Given the description of an element on the screen output the (x, y) to click on. 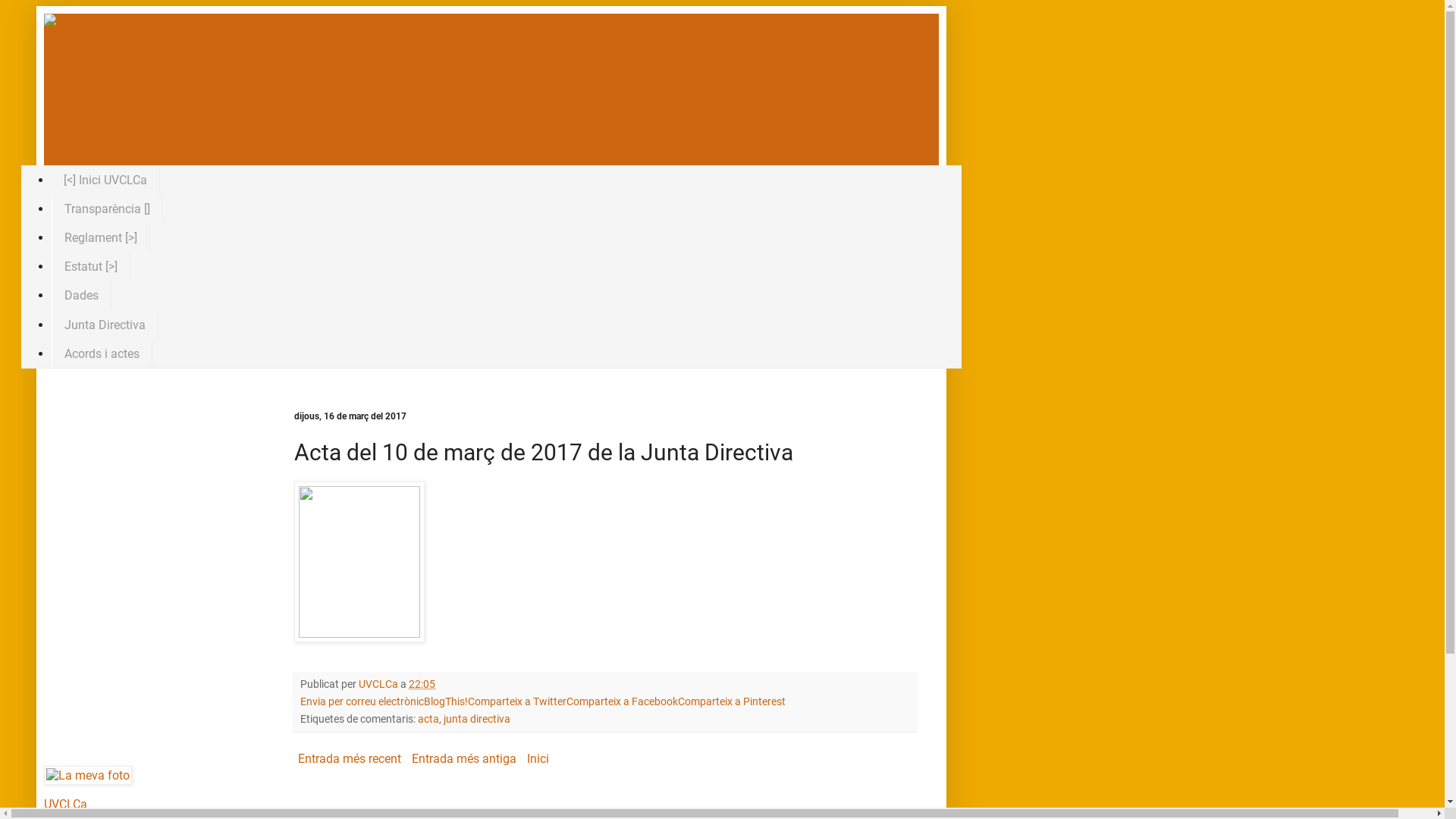
Comparteix a Pinterest Element type: text (731, 701)
junta directiva Element type: text (476, 718)
Estatut [>] Element type: text (90, 266)
UVCLCa Element type: text (65, 804)
Acords i actes Element type: text (101, 352)
Comparteix a Facebook Element type: text (621, 701)
Junta Directiva Element type: text (104, 324)
22:05 Element type: text (421, 683)
BlogThis! Element type: text (445, 701)
Dades Element type: text (81, 295)
[<] Inici UVCLCa Element type: text (105, 179)
acta Element type: text (428, 718)
Comparteix a Twitter Element type: text (516, 701)
Inici Element type: text (537, 758)
Reglament [>] Element type: text (100, 236)
UVCLCa Element type: text (379, 683)
